Given the description of an element on the screen output the (x, y) to click on. 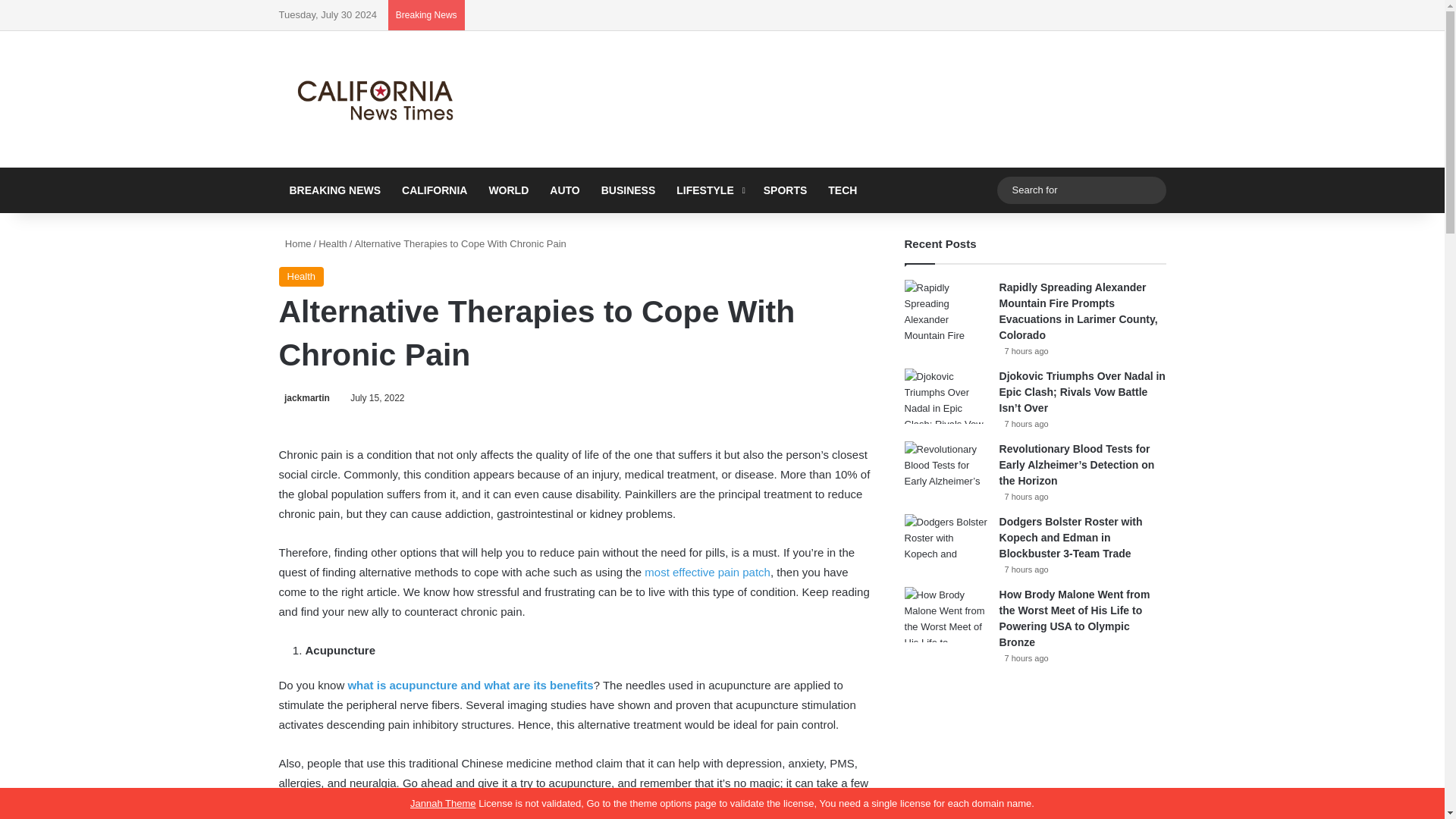
Health (332, 243)
Jannah Theme (443, 803)
LIFESTYLE (708, 189)
AUTO (563, 189)
most effective pain patch (707, 571)
BUSINESS (628, 189)
Search for (1080, 189)
what is acupuncture and what are its benefits (469, 684)
Health (301, 276)
CALIFORNIA (434, 189)
TECH (841, 189)
jackmartin (304, 398)
SPORTS (785, 189)
BREAKING NEWS (335, 189)
Search for (1150, 189)
